Given the description of an element on the screen output the (x, y) to click on. 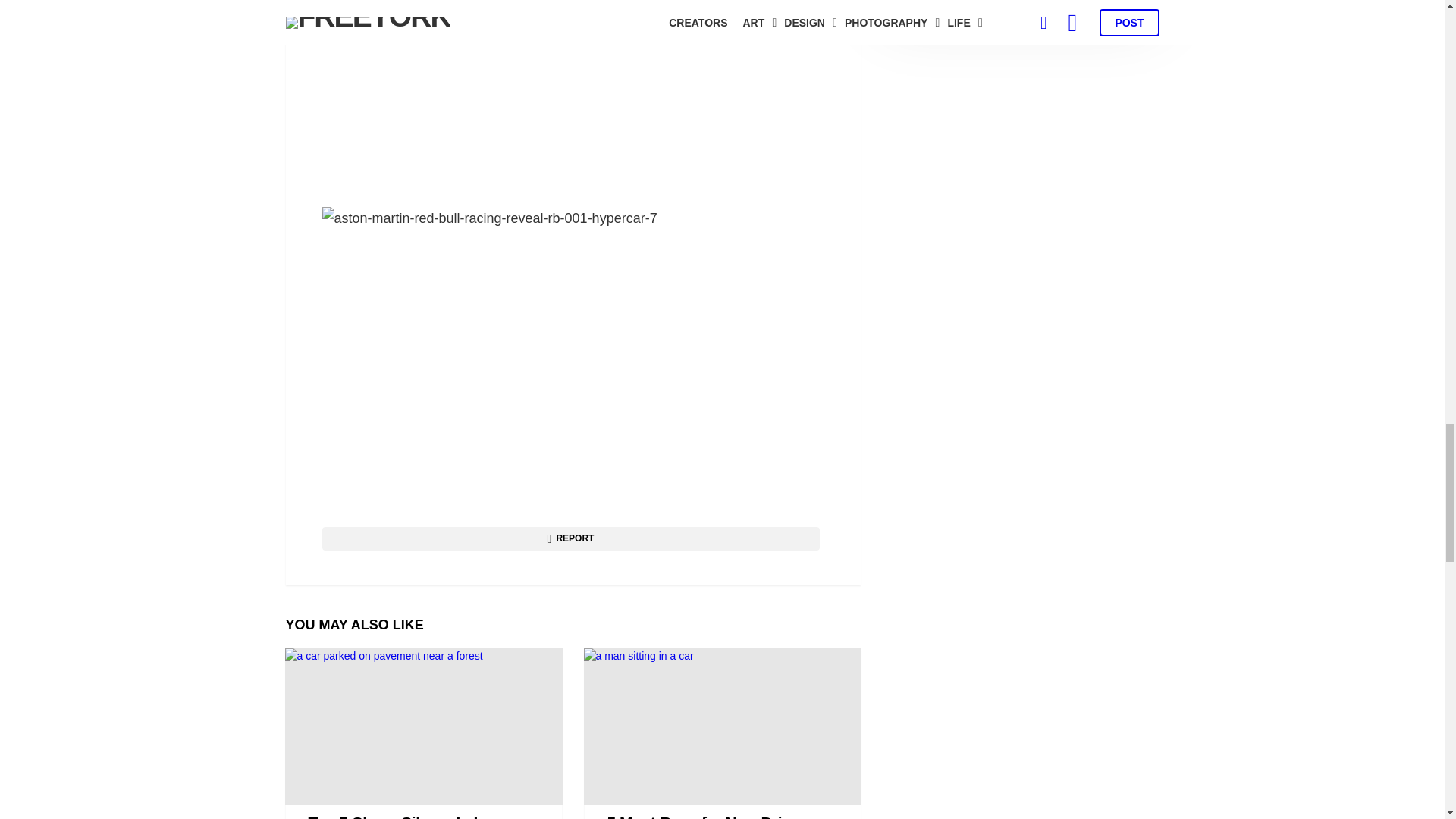
Aston Martin and Red Bull Racing Reveal AM-RB 001 Hypercar (572, 95)
Top 5 Chevy Silverado Lemon Law Problems (423, 726)
5 Must-Buys for New Drivers (722, 726)
